Given the description of an element on the screen output the (x, y) to click on. 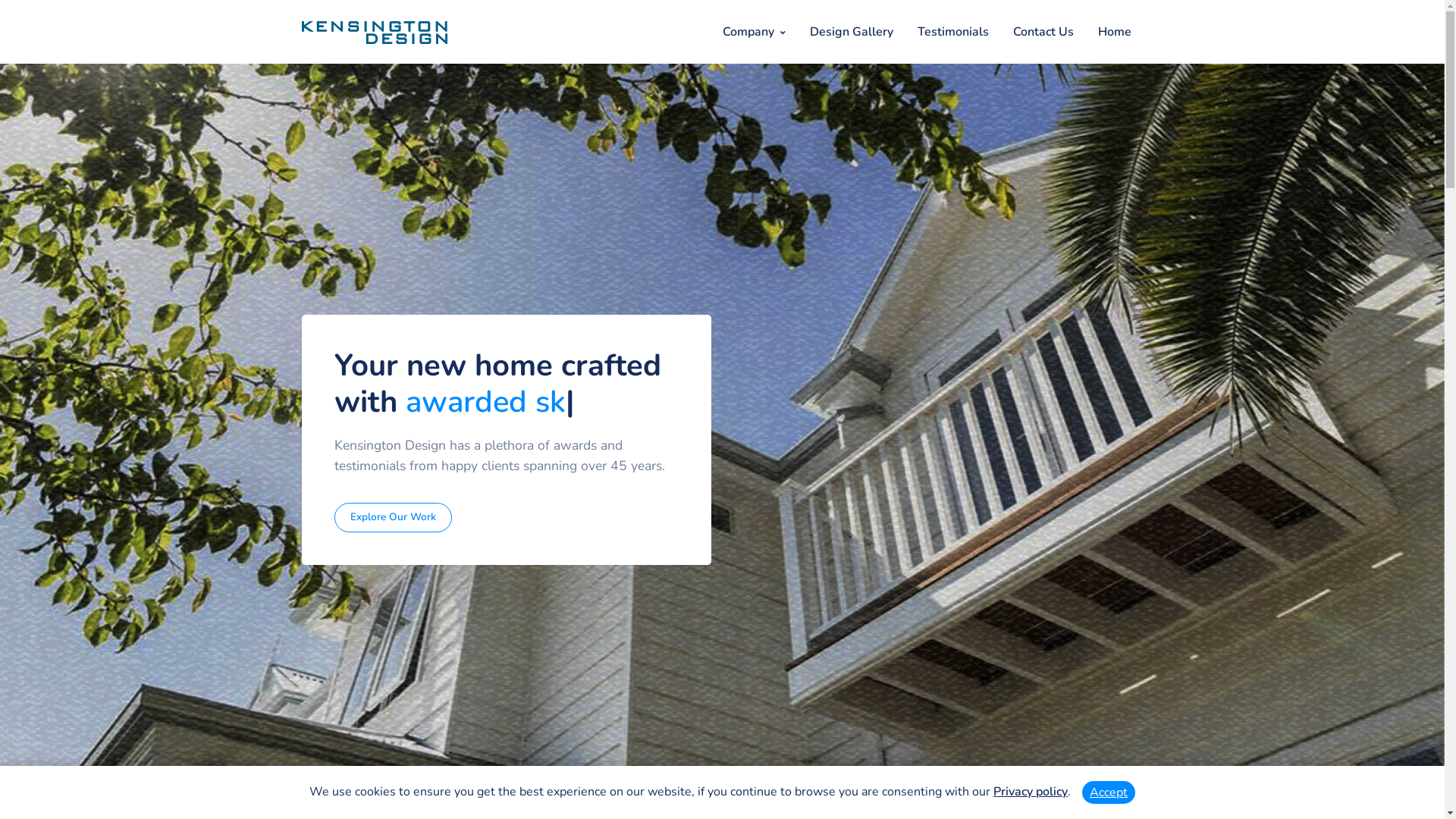
Testimonials Element type: text (953, 31)
Privacy policy Element type: text (1030, 791)
Design Gallery Element type: text (851, 31)
Company Element type: text (753, 31)
Accept Element type: text (1108, 792)
Contact Us Element type: text (1043, 31)
Explore Our Work Element type: text (392, 516)
Home Element type: text (1114, 31)
Kensington Design Element type: hover (374, 32)
